Given the description of an element on the screen output the (x, y) to click on. 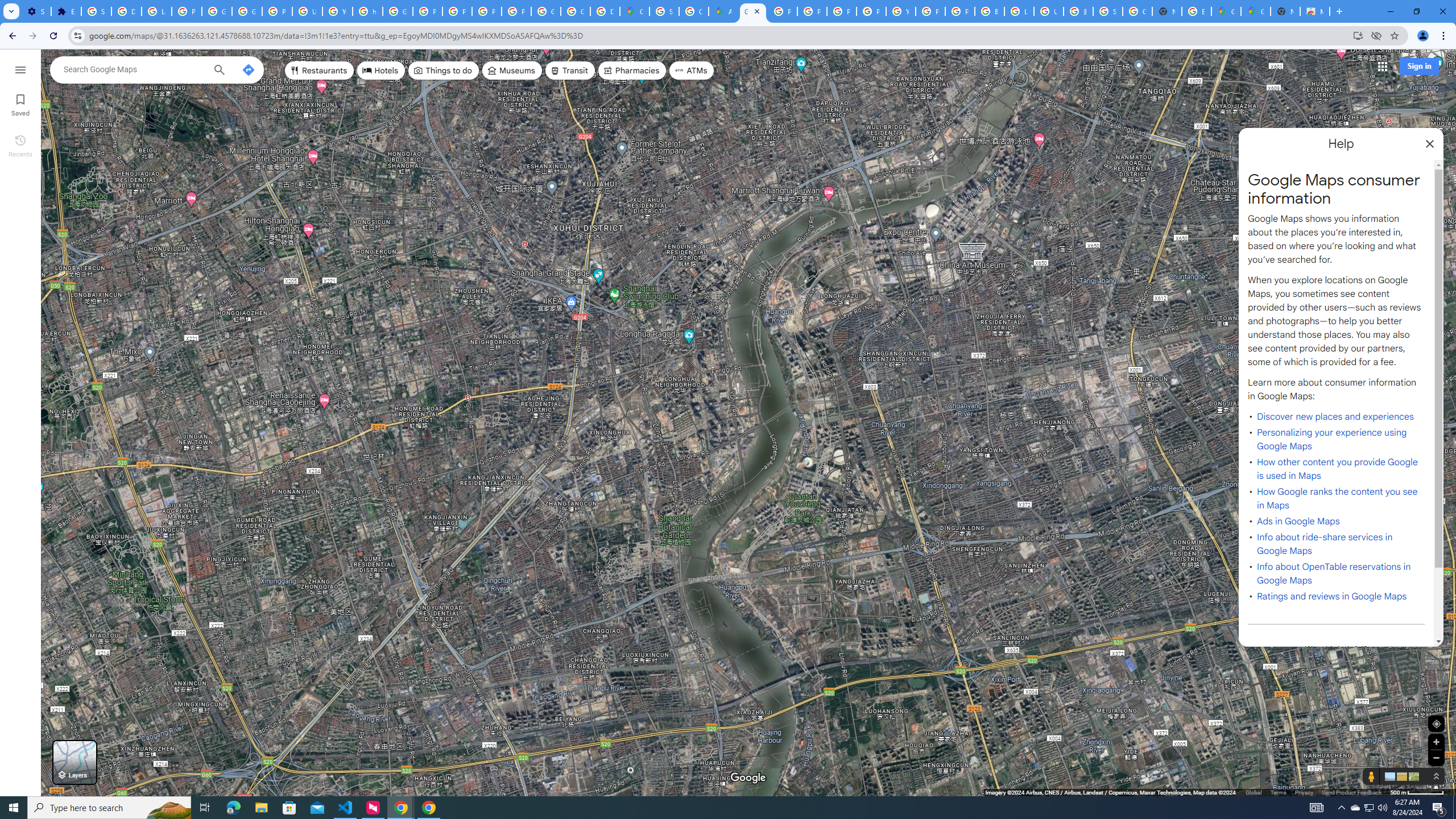
Google Maps (634, 11)
Info about OpenTable reservations in Google Maps (1333, 573)
Museums (511, 70)
Menu (20, 68)
Settings - On startup (36, 11)
Hotels (381, 70)
Privacy Help Center - Policies Help (426, 11)
Close Help Panel (1429, 144)
